Given the description of an element on the screen output the (x, y) to click on. 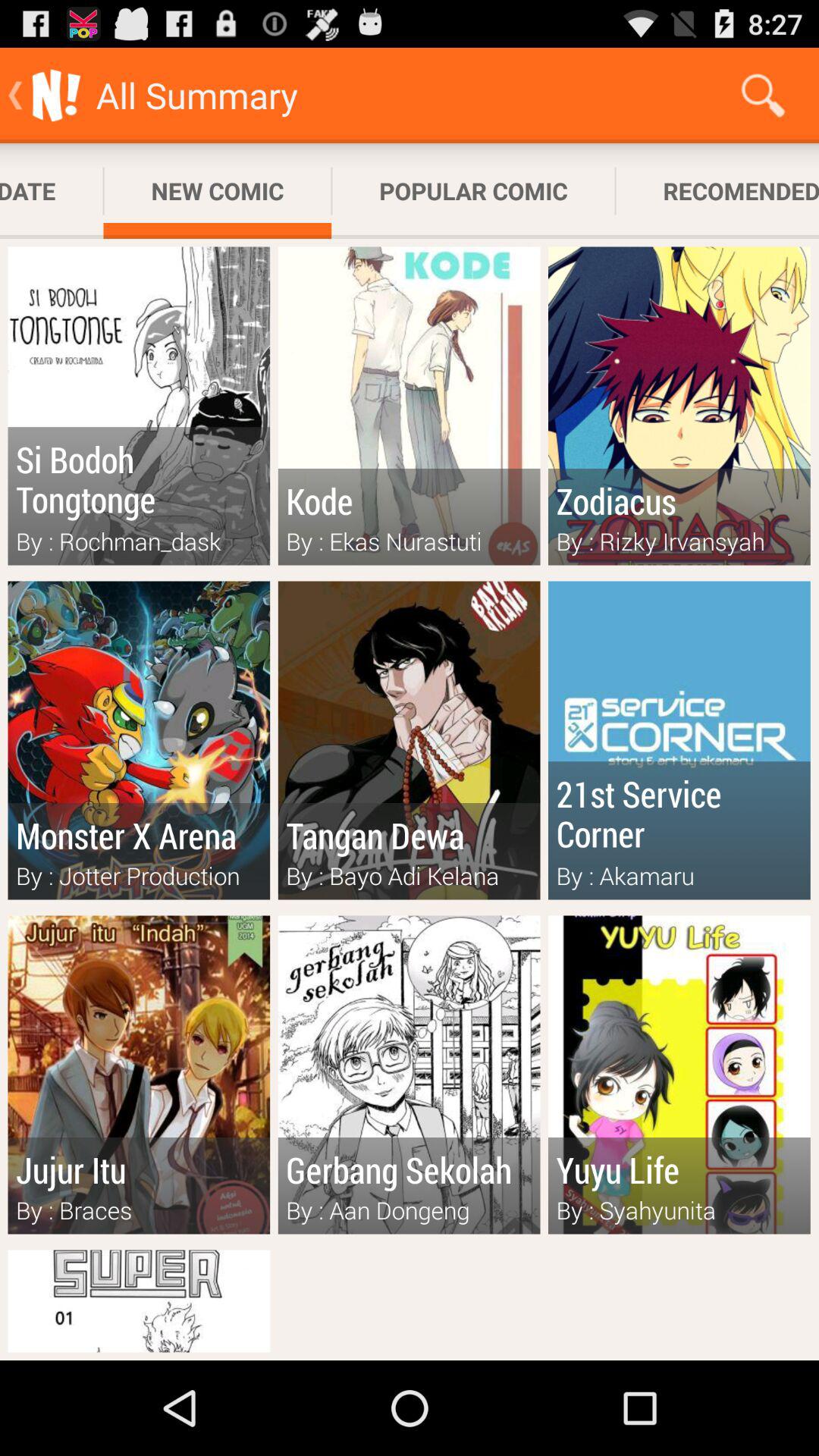
turn on the item next to popular comic (217, 190)
